Given the description of an element on the screen output the (x, y) to click on. 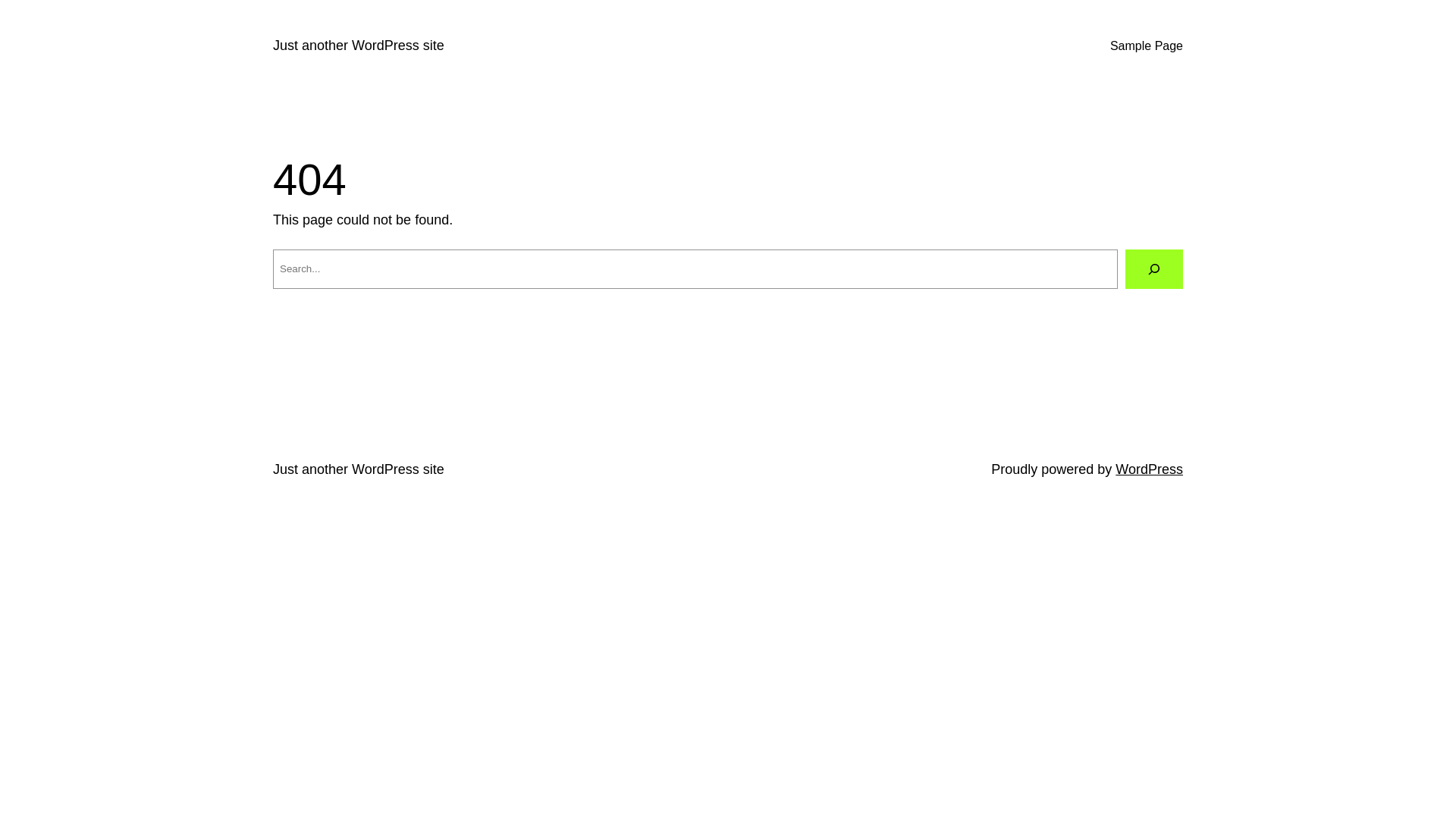
WordPress Element type: text (1149, 468)
Sample Page Element type: text (1146, 46)
Just another WordPress site Element type: text (358, 468)
Just another WordPress site Element type: text (358, 45)
